Given the description of an element on the screen output the (x, y) to click on. 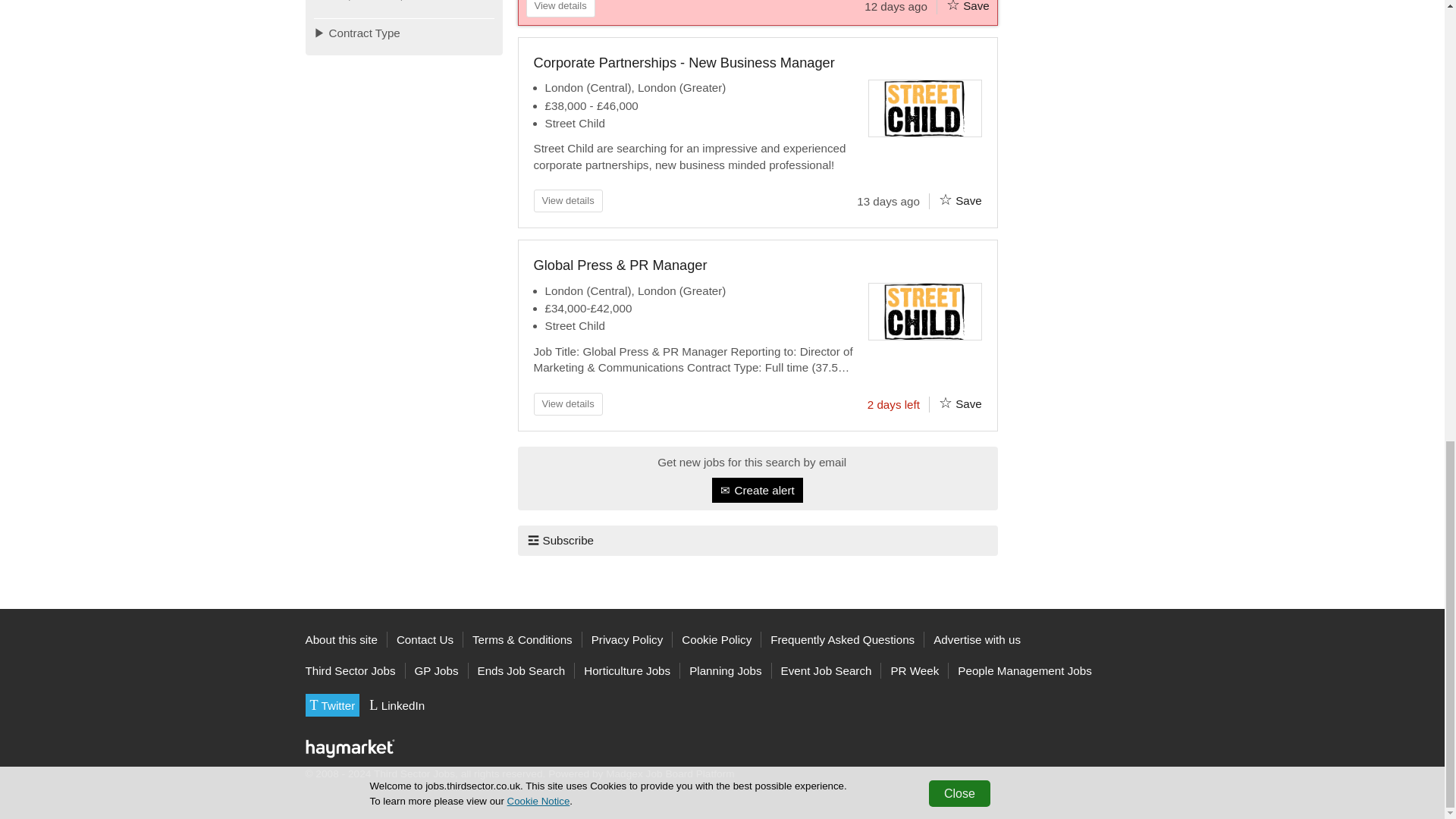
Remove selection (486, 2)
Add to shortlist (952, 6)
